Given the description of an element on the screen output the (x, y) to click on. 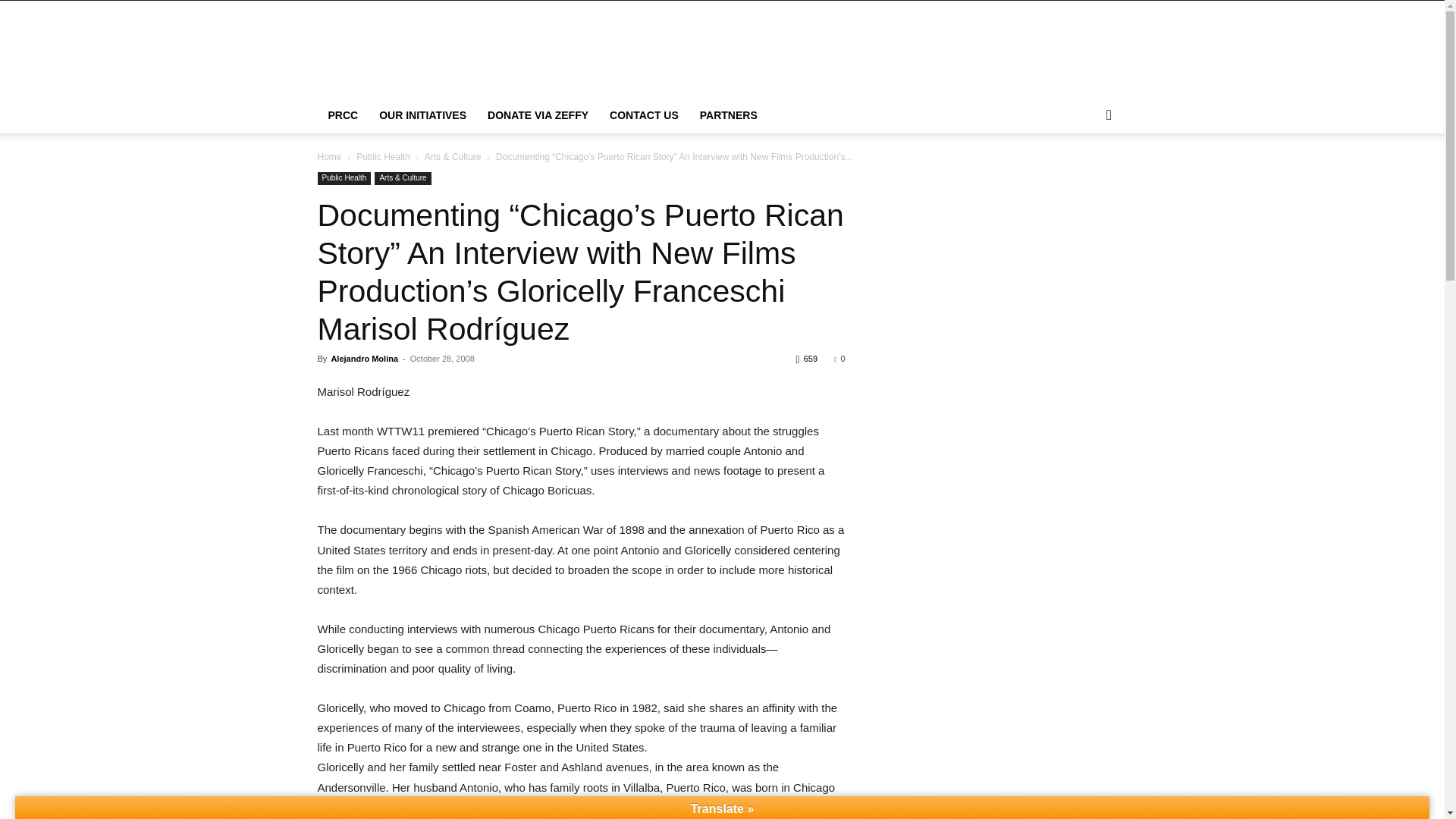
Public Health (344, 178)
Home (328, 156)
Search (1085, 175)
OUR INITIATIVES (422, 115)
0 (839, 358)
View all posts in Public Health (383, 156)
CONTACT US (643, 115)
DONATE VIA ZEFFY (537, 115)
Alejandro Molina (363, 358)
Public Health (383, 156)
PARTNERS (728, 115)
PRCC (342, 115)
